Given the description of an element on the screen output the (x, y) to click on. 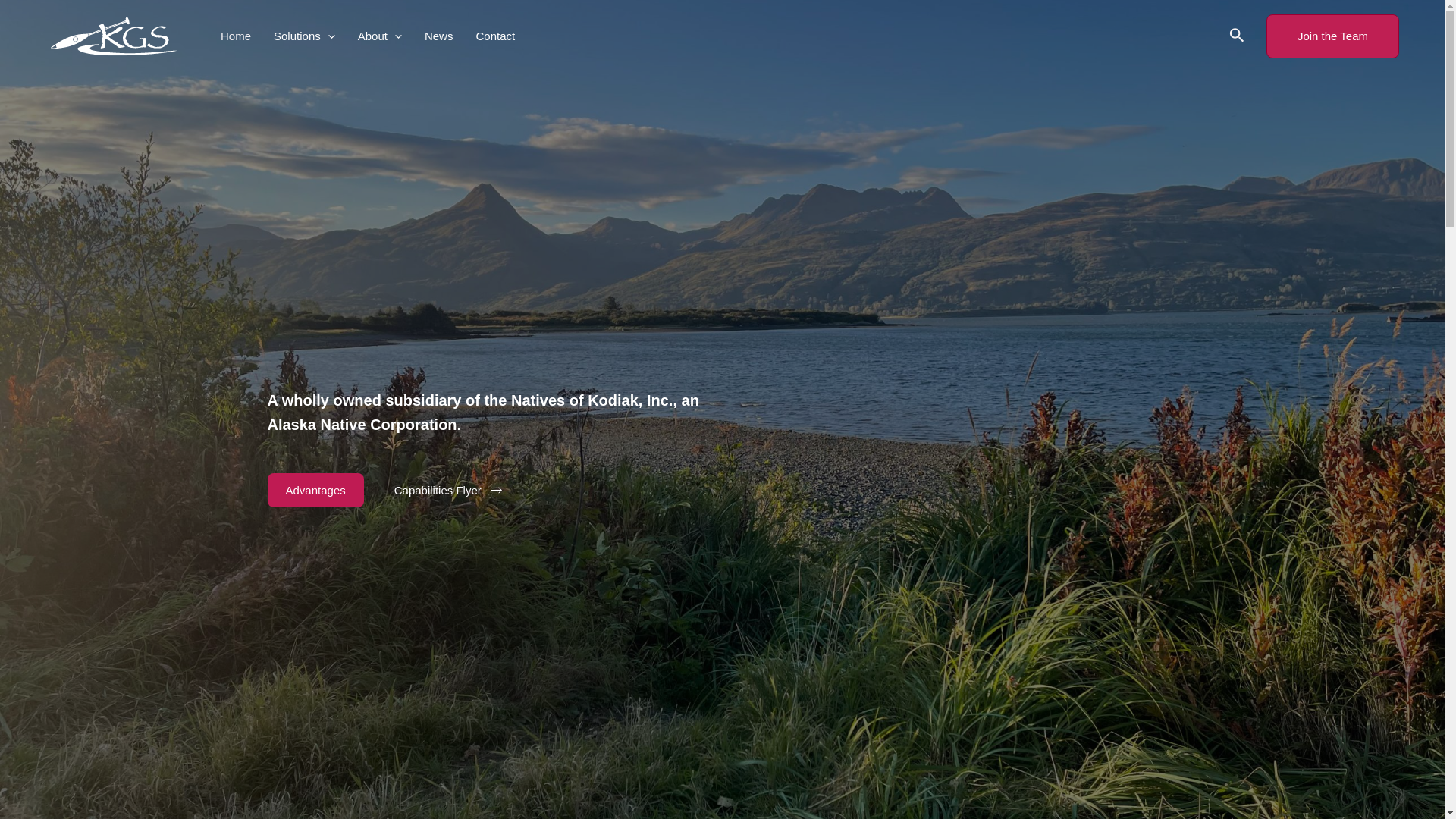
Capabilities Flyer (448, 490)
About (379, 36)
Advantages (314, 489)
Join the Team (1332, 36)
Solutions (304, 36)
